Given the description of an element on the screen output the (x, y) to click on. 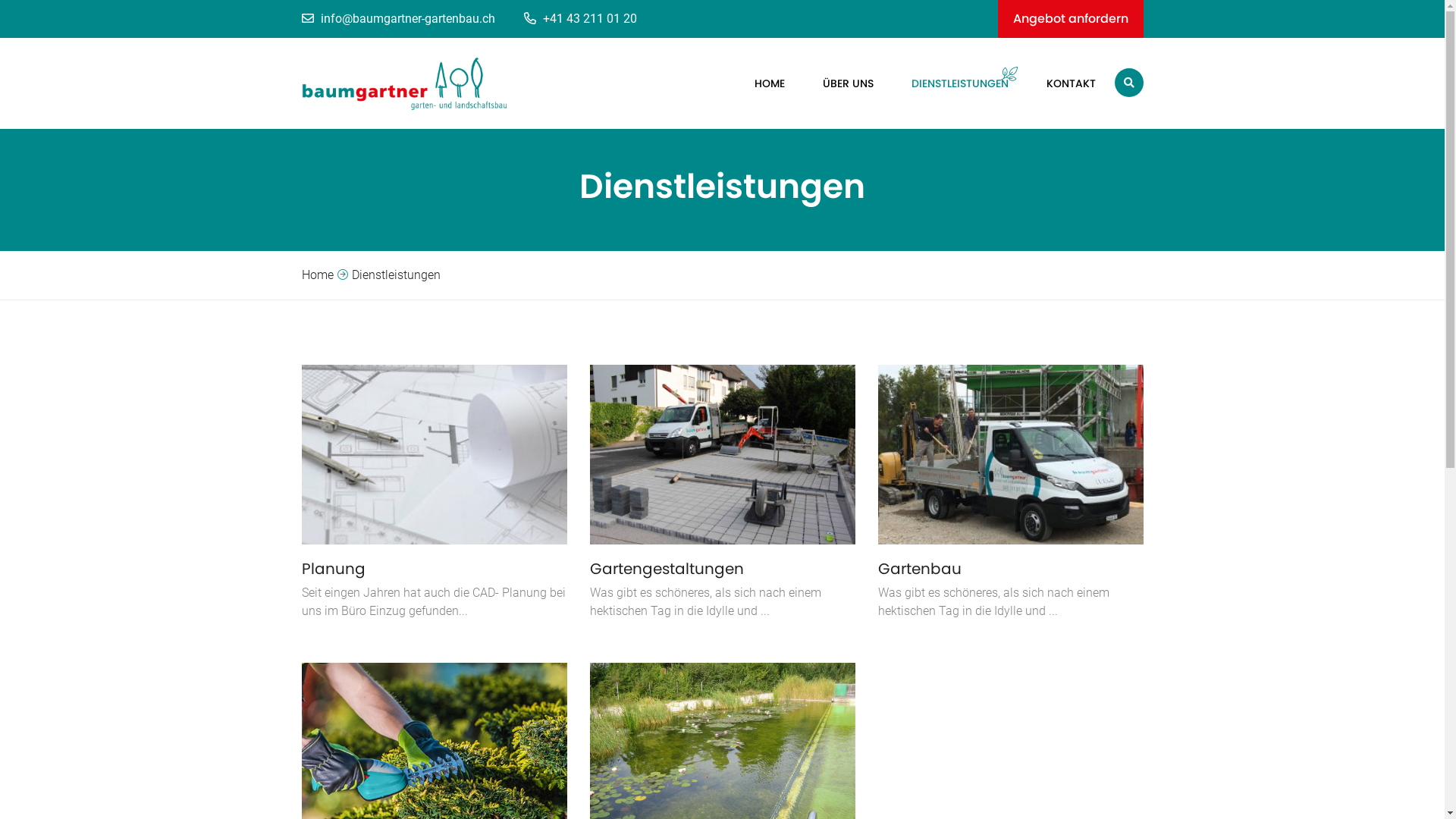
Gartengestaltungen Element type: text (722, 568)
+41 43 211 01 20 Element type: text (587, 18)
HOME Element type: text (753, 83)
Gartenbau Element type: text (1010, 568)
LEHRLINGSAUSBILDUNG Element type: text (971, 169)
OFFENE STELLEN Element type: text (951, 141)
Planung Element type: text (434, 568)
KONTAKT Element type: text (1055, 83)
info@baumgartner-gartenbau.ch Element type: text (409, 18)
Home Element type: text (317, 274)
GESCHICHTE Element type: text (944, 197)
DIENSTLEISTUNGEN Element type: text (944, 83)
